Given the description of an element on the screen output the (x, y) to click on. 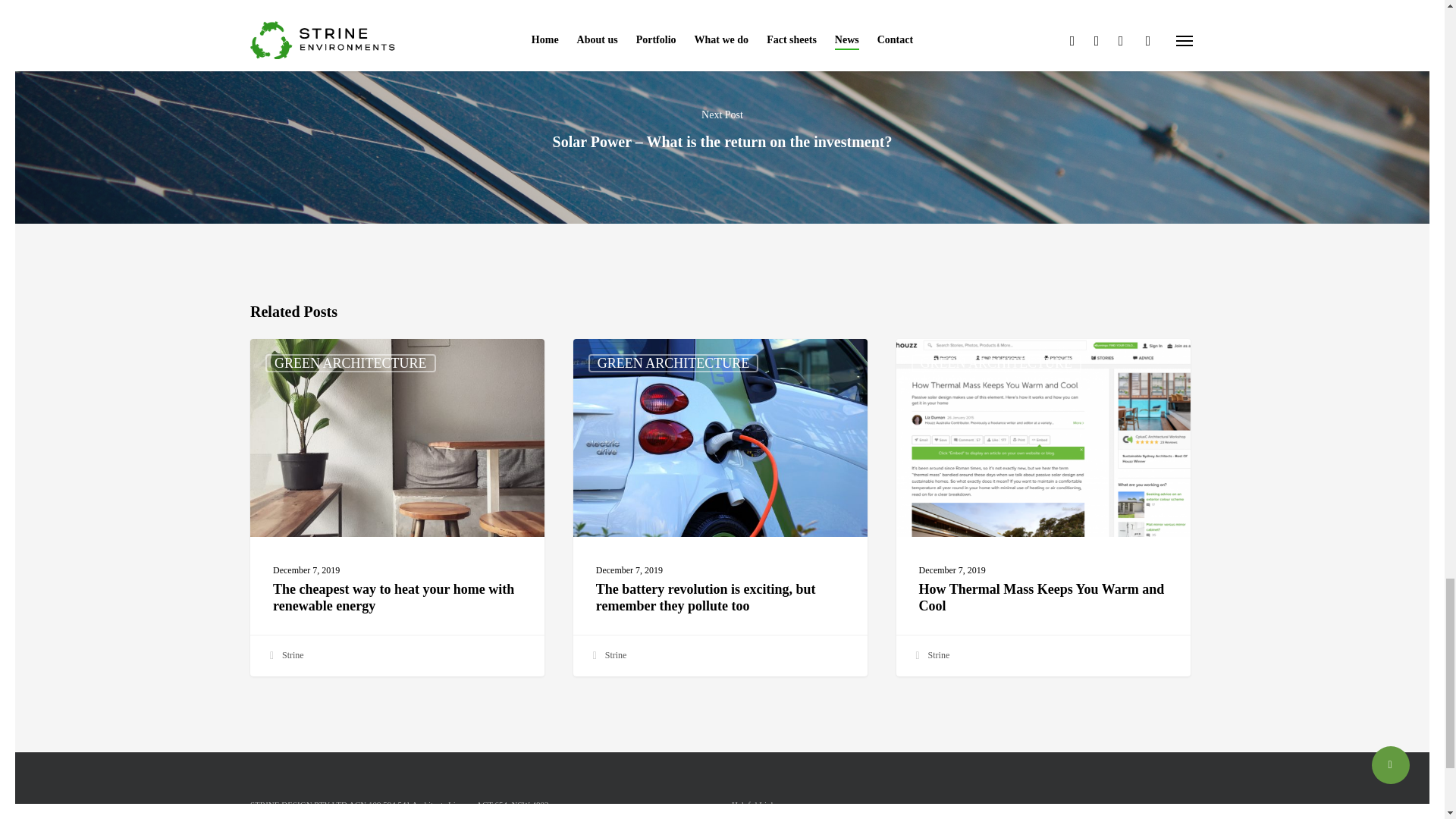
GREEN ARCHITECTURE (349, 362)
